Given the description of an element on the screen output the (x, y) to click on. 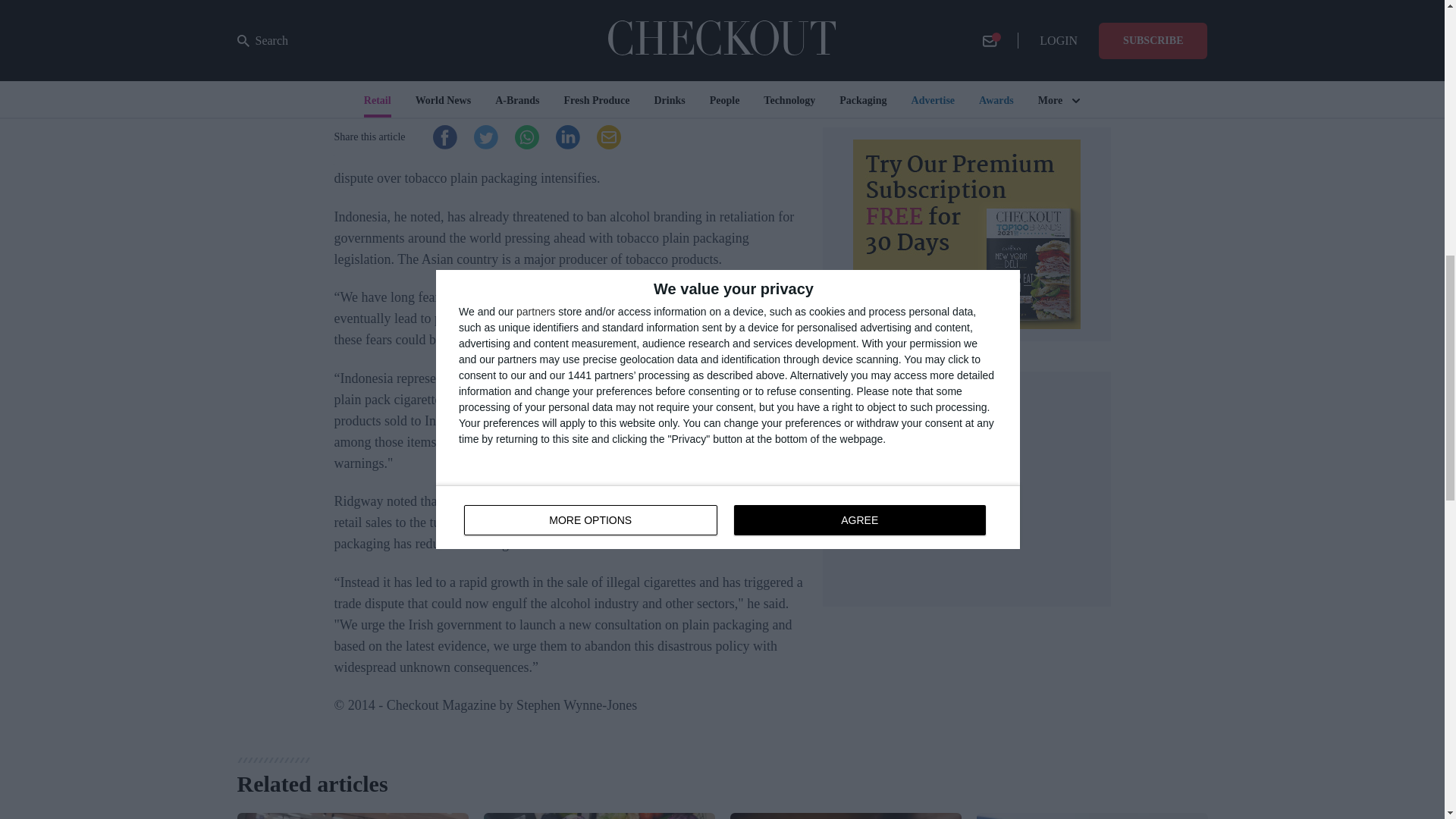
Irish whiskey (677, 419)
